Given the description of an element on the screen output the (x, y) to click on. 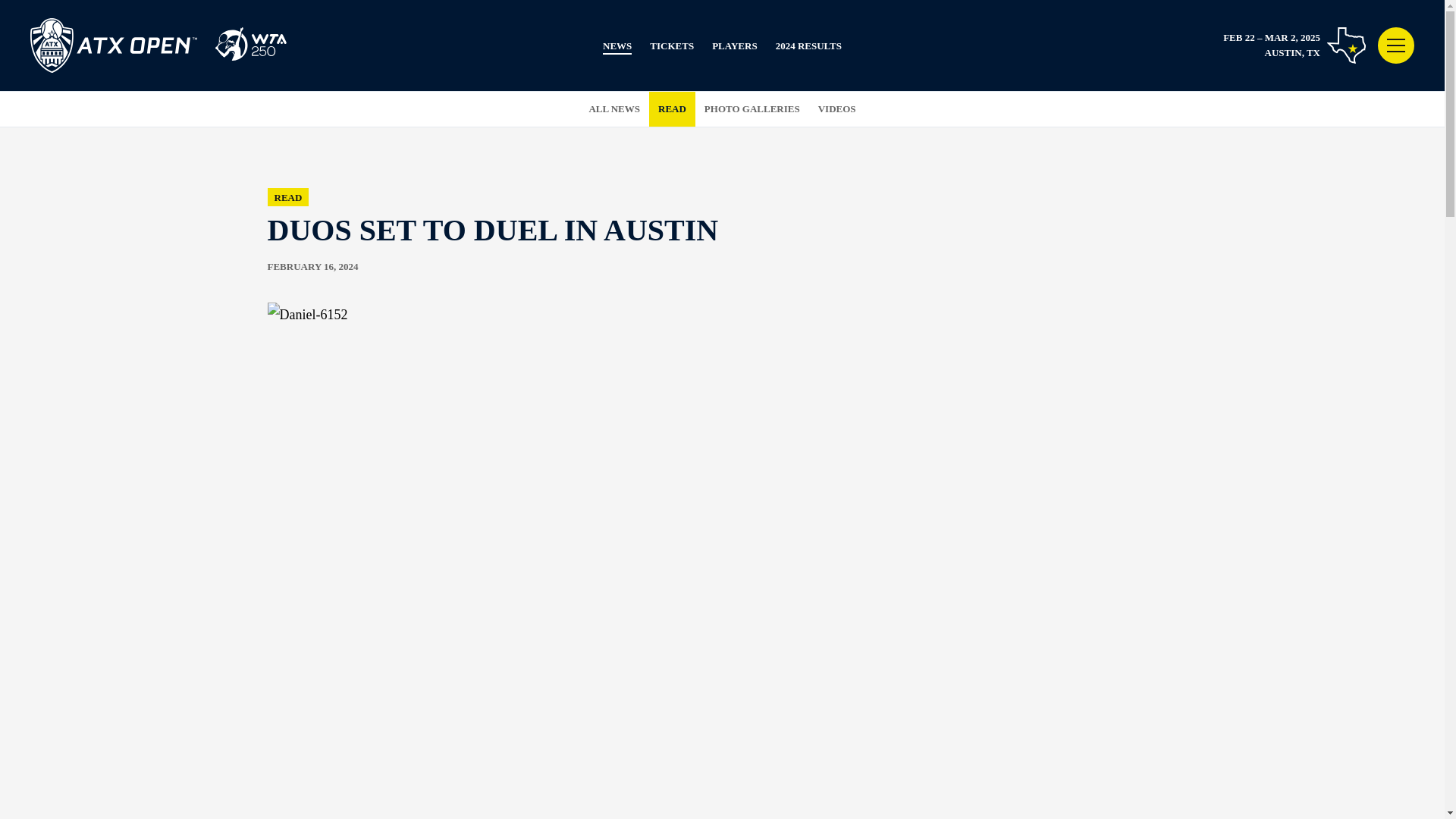
PLAYERS (734, 46)
Open Sidebar Menu (1395, 45)
2024 RESULTS (808, 46)
ATX Open (158, 45)
NEWS (616, 46)
TICKETS (671, 46)
